Given the description of an element on the screen output the (x, y) to click on. 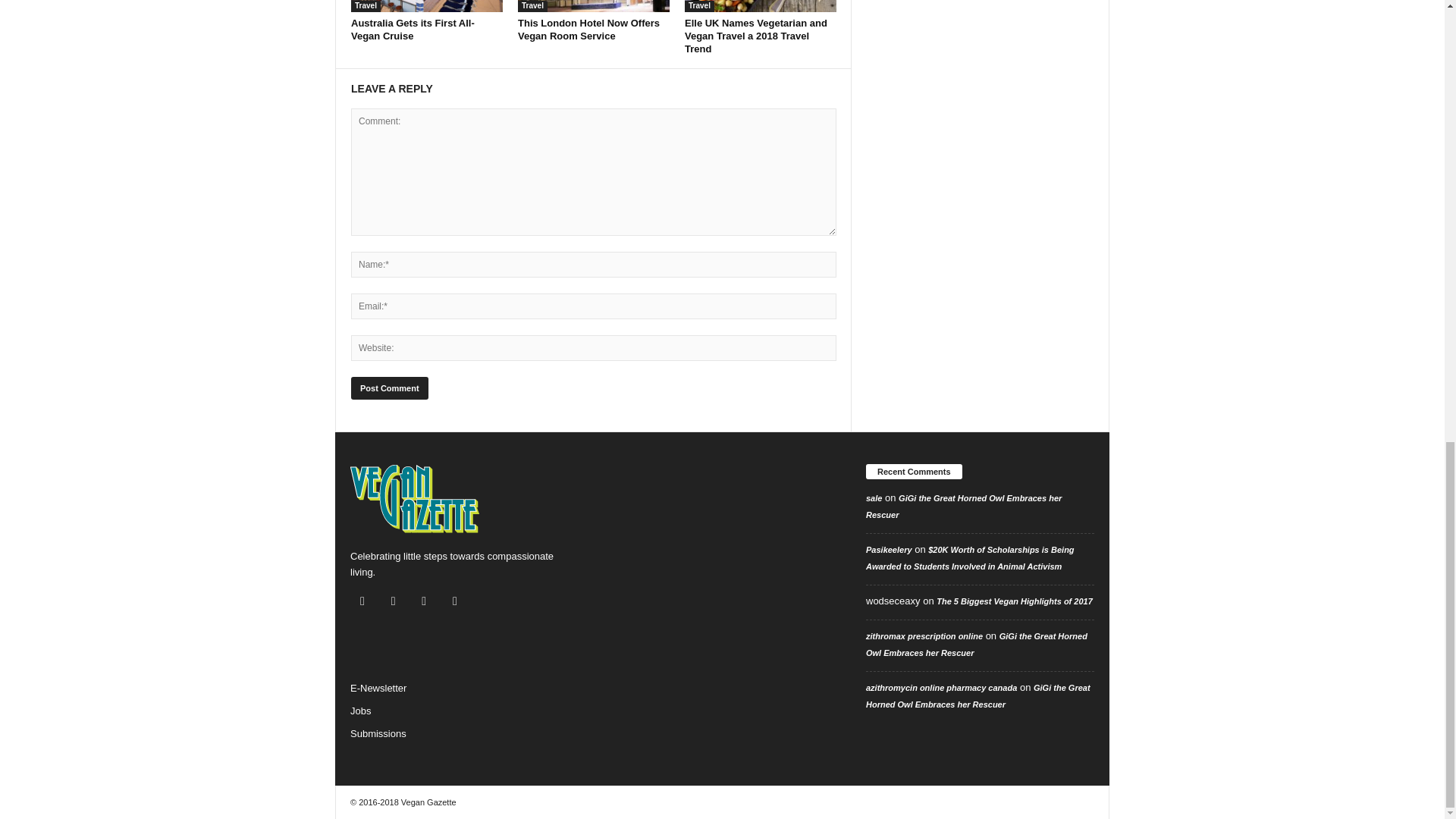
Post Comment (389, 387)
This London Hotel Now Offers Vegan Room Service (593, 6)
This London Hotel Now Offers Vegan Room Service (588, 29)
Australia Gets its First All-Vegan Cruise (412, 29)
Australia Gets its First All-Vegan Cruise (426, 6)
